Given the description of an element on the screen output the (x, y) to click on. 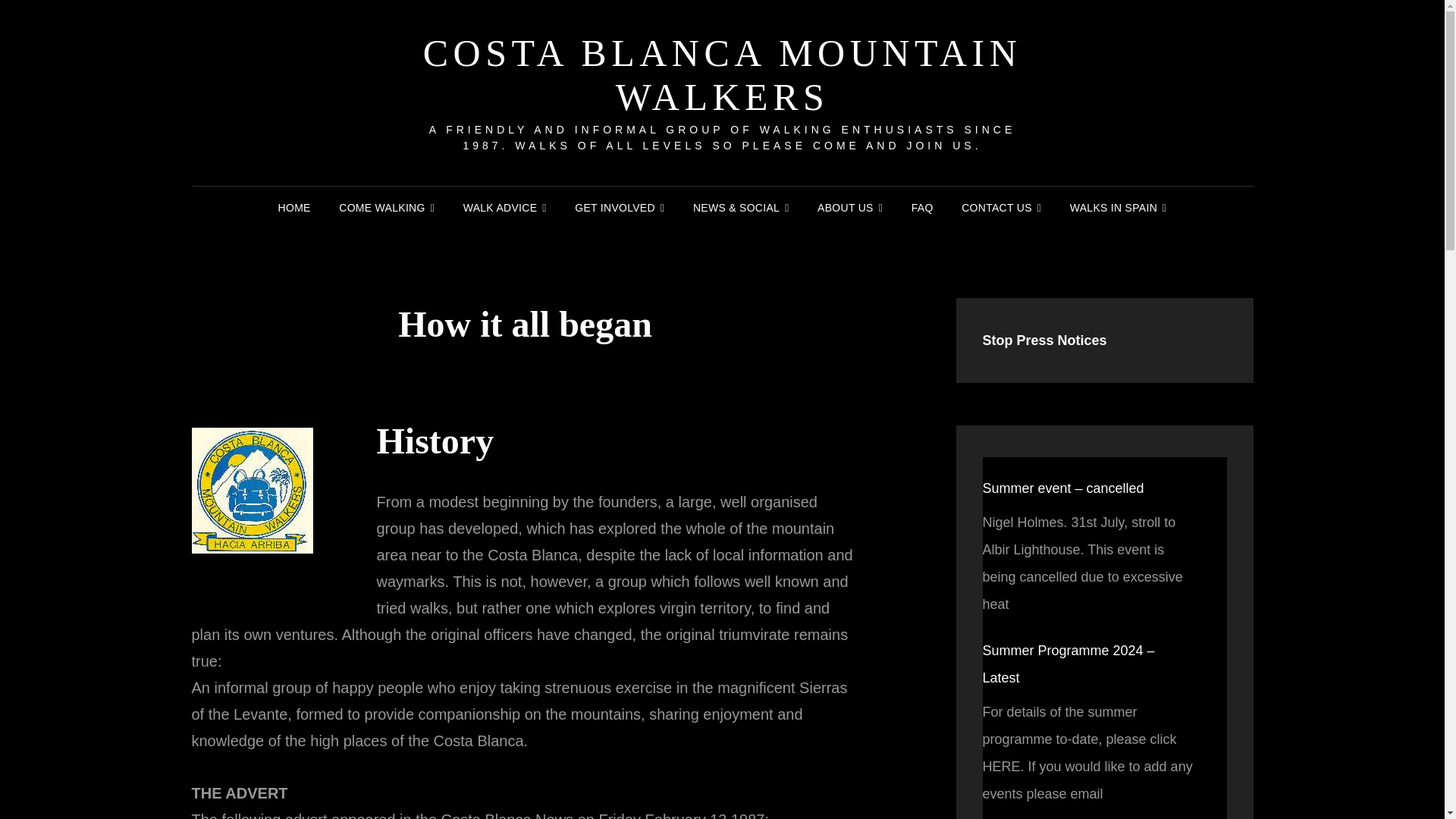
COME WALKING (386, 207)
HOME (294, 207)
COSTA BLANCA MOUNTAIN WALKERS (722, 74)
WALK ADVICE (505, 207)
GET INVOLVED (619, 207)
